Given the description of an element on the screen output the (x, y) to click on. 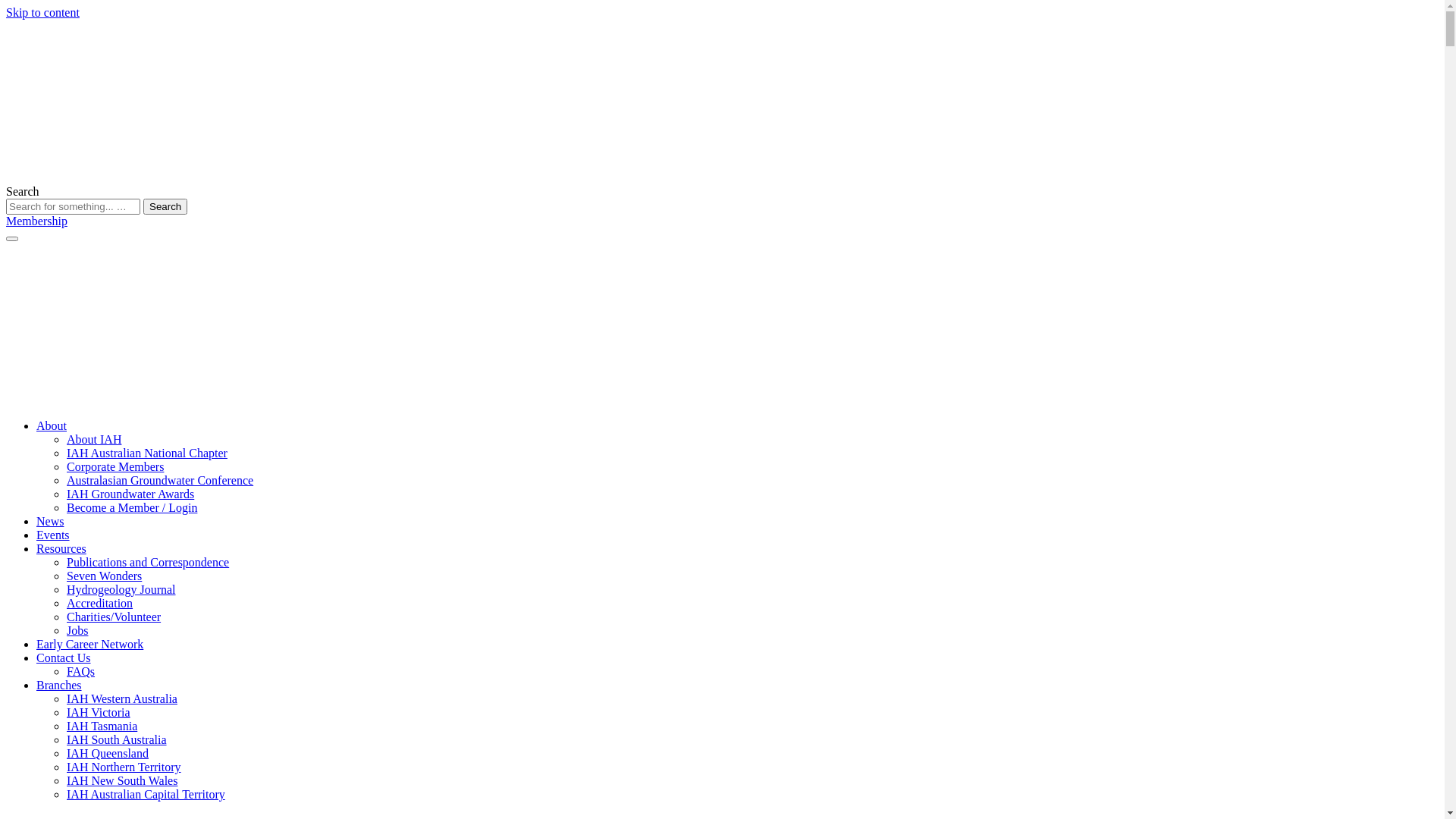
Hydrogeology Journal Element type: text (120, 589)
Corporate Members Element type: text (114, 466)
Search Element type: text (165, 206)
Accreditation Element type: text (99, 602)
About Element type: text (51, 425)
News Element type: text (49, 520)
Resources Element type: text (61, 548)
Publications and Correspondence Element type: text (147, 561)
IAH Tasmania Element type: text (101, 725)
IAH South Australia Element type: text (116, 739)
Australasian Groundwater Conference Element type: text (159, 479)
FAQs Element type: text (80, 671)
IAH Australian National Chapter Element type: text (146, 452)
IAH Western Australia Element type: text (121, 698)
IAH Victoria Element type: text (98, 712)
IAH Australian Capital Territory Element type: text (145, 793)
Become a Member / Login Element type: text (131, 507)
Events Element type: text (52, 534)
Seven Wonders Element type: text (103, 575)
Membership Element type: text (36, 220)
IAH Groundwater Awards Element type: text (130, 493)
IAH New South Wales Element type: text (121, 780)
Charities/Volunteer Element type: text (113, 616)
IAH Queensland Element type: text (107, 752)
Skip to content Element type: text (42, 12)
Contact Us Element type: text (63, 657)
Early Career Network Element type: text (89, 643)
IAH Northern Territory Element type: text (123, 766)
About IAH Element type: text (93, 439)
Branches Element type: text (58, 684)
Jobs Element type: text (76, 630)
